Given the description of an element on the screen output the (x, y) to click on. 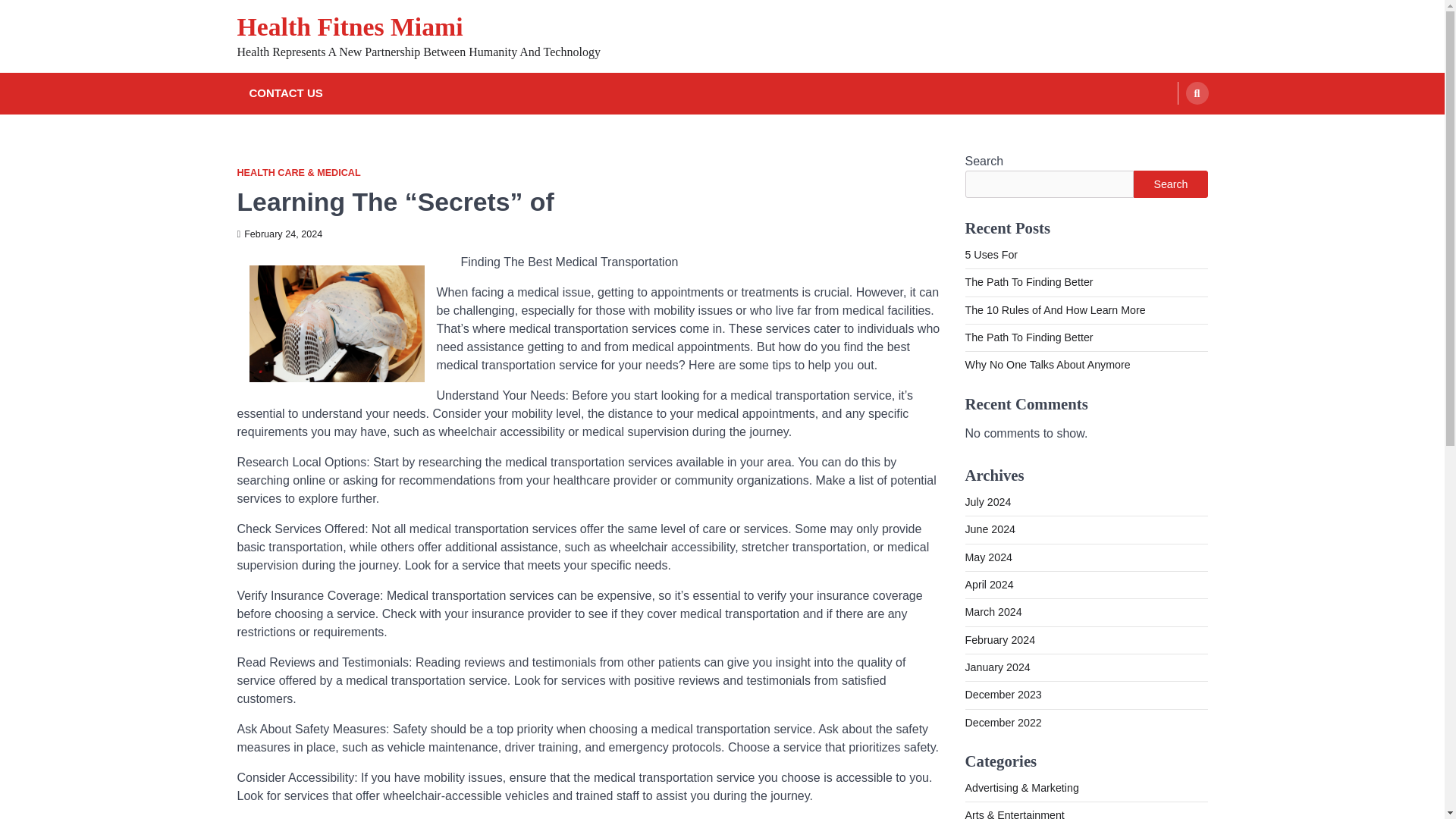
April 2024 (988, 584)
The 10 Rules of And How Learn More (1053, 309)
December 2022 (1002, 722)
The Path To Finding Better (1028, 282)
January 2024 (996, 666)
February 24, 2024 (278, 234)
Health Fitnes Miami (349, 26)
Why No One Talks About Anymore (1046, 364)
July 2024 (986, 501)
Search (1170, 184)
The Path To Finding Better (1028, 337)
May 2024 (987, 557)
Search (1168, 128)
June 2024 (988, 529)
December 2023 (1002, 694)
